Given the description of an element on the screen output the (x, y) to click on. 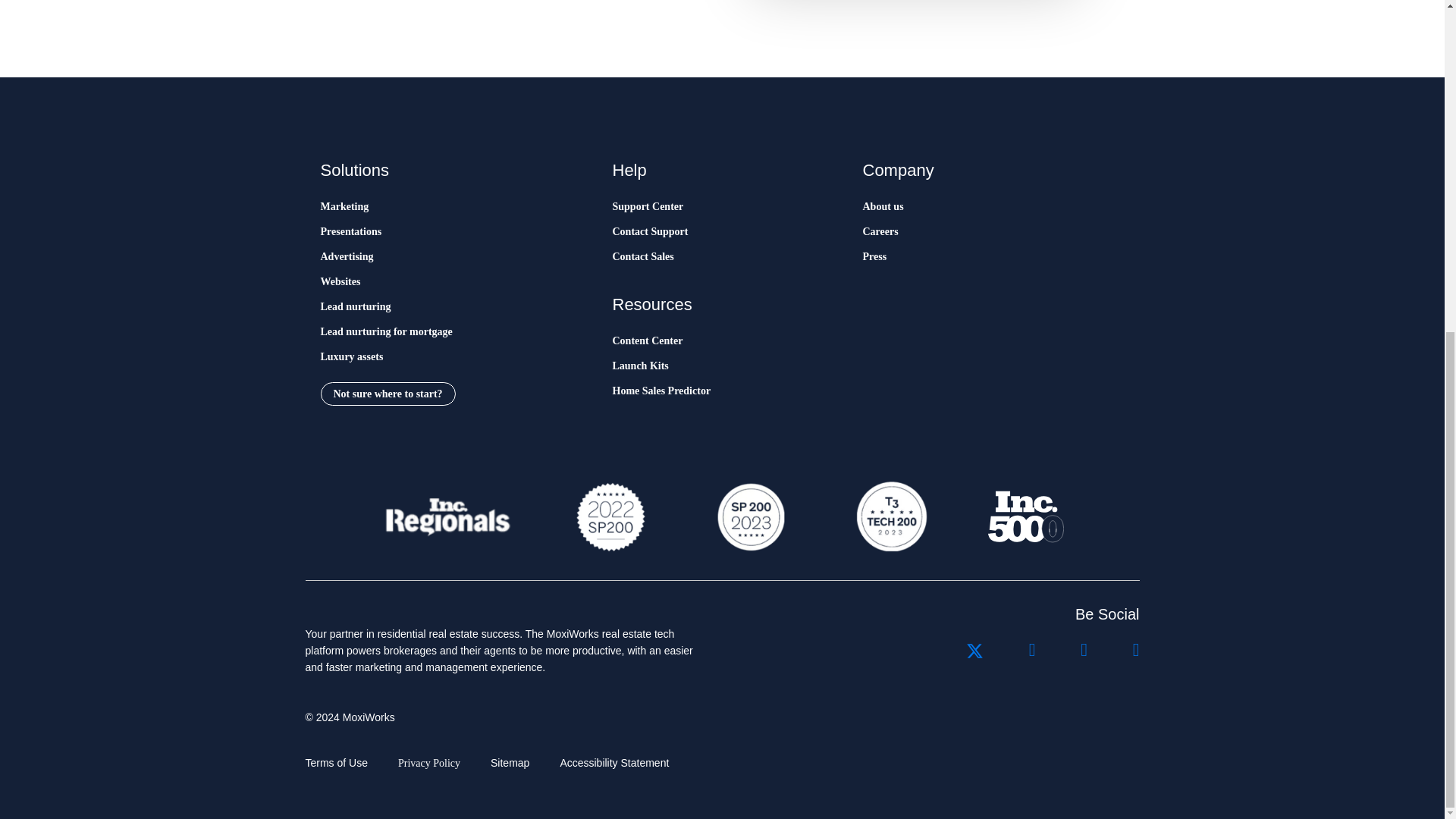
SP 2022 (610, 516)
T3 tech 200 2023 (890, 516)
SP 2023 (749, 516)
